Given the description of an element on the screen output the (x, y) to click on. 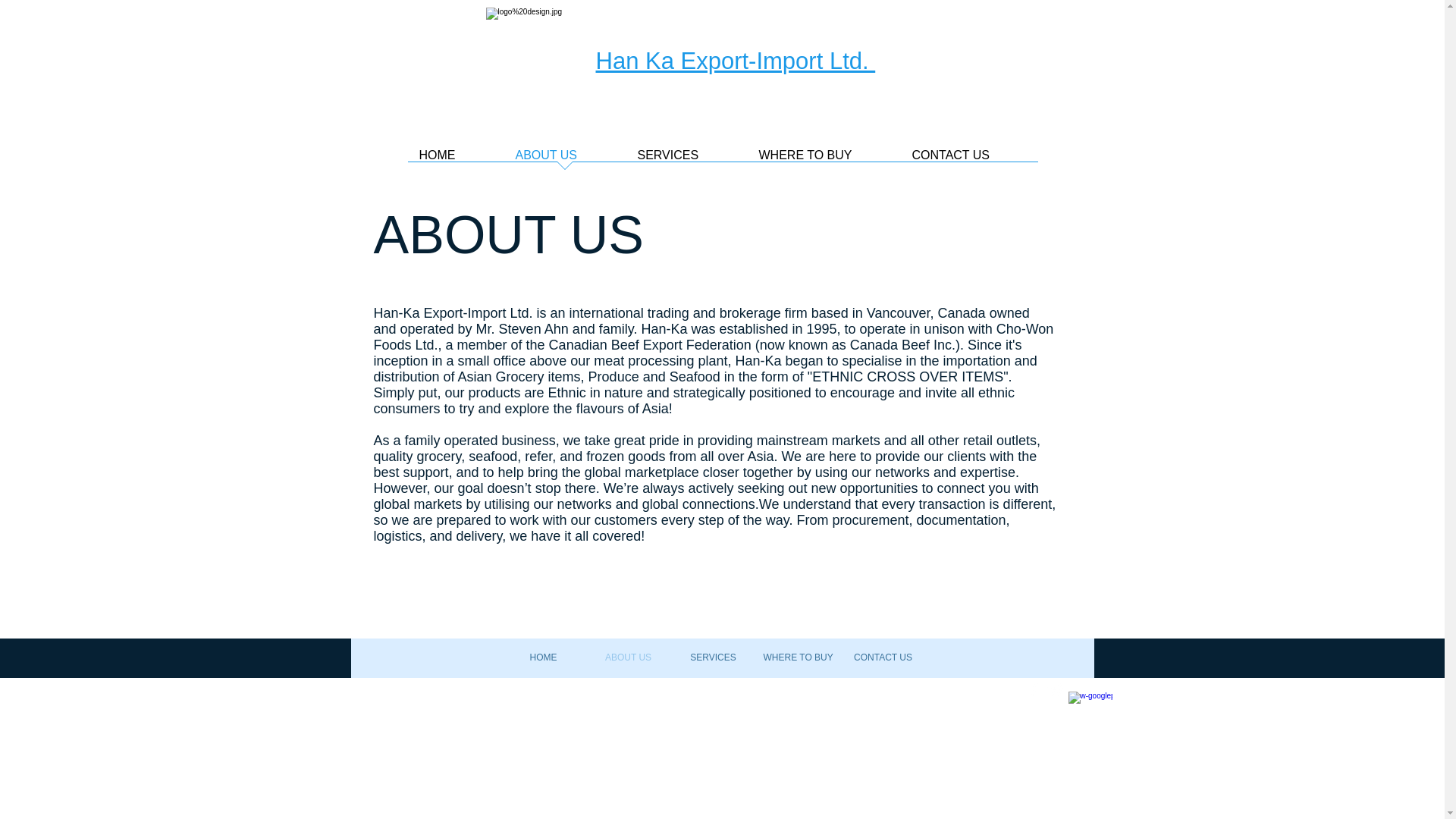
WHERE TO BUY (824, 159)
CONTACT US (882, 657)
WHERE TO BUY (797, 657)
ABOUT US (627, 657)
HOME (455, 159)
SERVICES (712, 657)
HOME (542, 657)
CONTACT US (969, 159)
SERVICES (687, 159)
ABOUT US (564, 159)
